Given the description of an element on the screen output the (x, y) to click on. 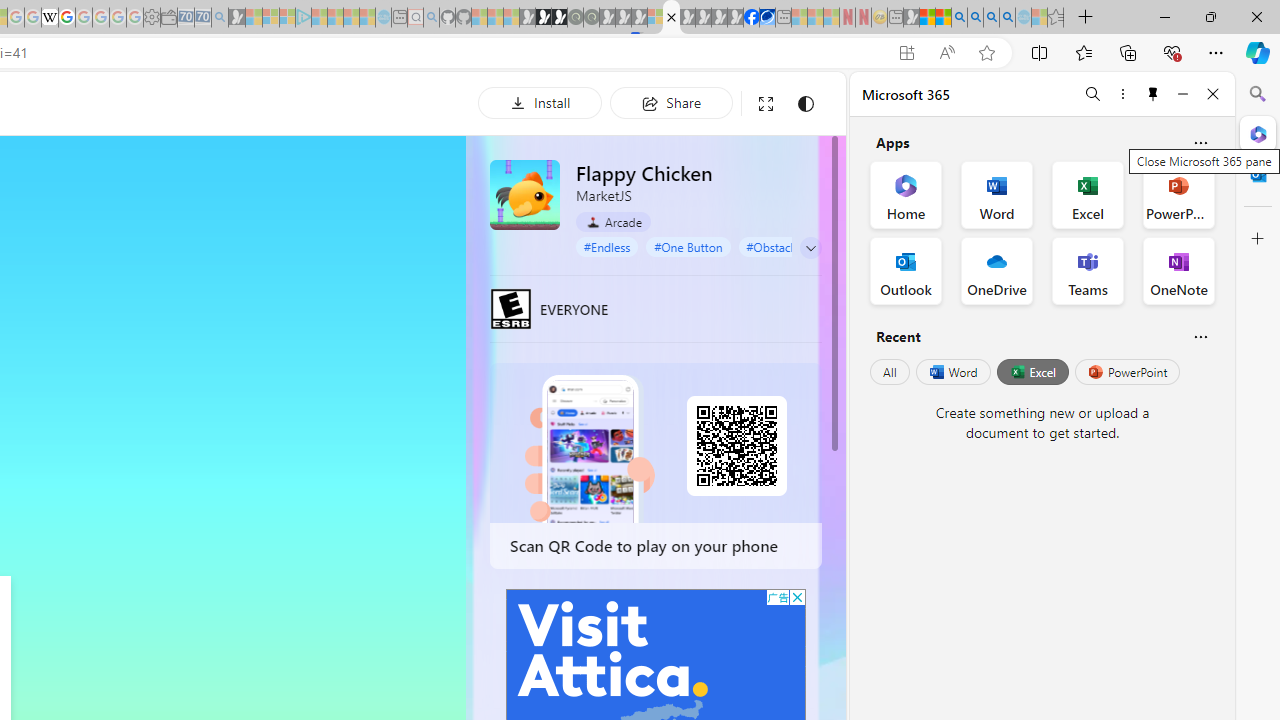
OneNote Office App (1178, 270)
AirNow.gov (767, 17)
Home Office App (906, 194)
github - Search - Sleeping (431, 17)
Nordace | Facebook (751, 17)
Arcade (613, 221)
OneDrive Office App (996, 270)
